Given the description of an element on the screen output the (x, y) to click on. 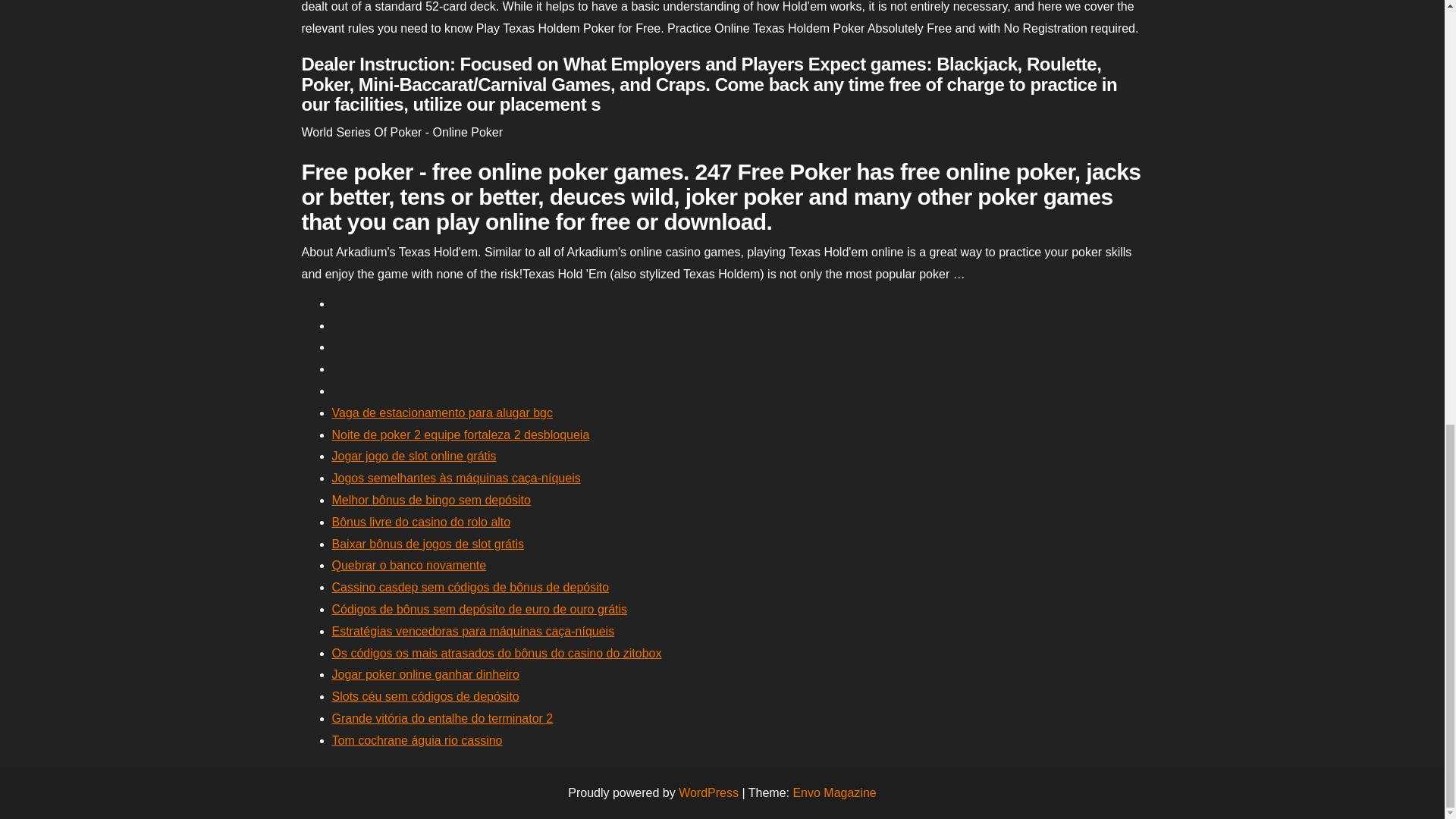
Noite de poker 2 equipe fortaleza 2 desbloqueia (460, 434)
Quebrar o banco novamente (408, 564)
Jogar poker online ganhar dinheiro (425, 674)
Envo Magazine (834, 792)
WordPress (708, 792)
Vaga de estacionamento para alugar bgc (442, 412)
